Given the description of an element on the screen output the (x, y) to click on. 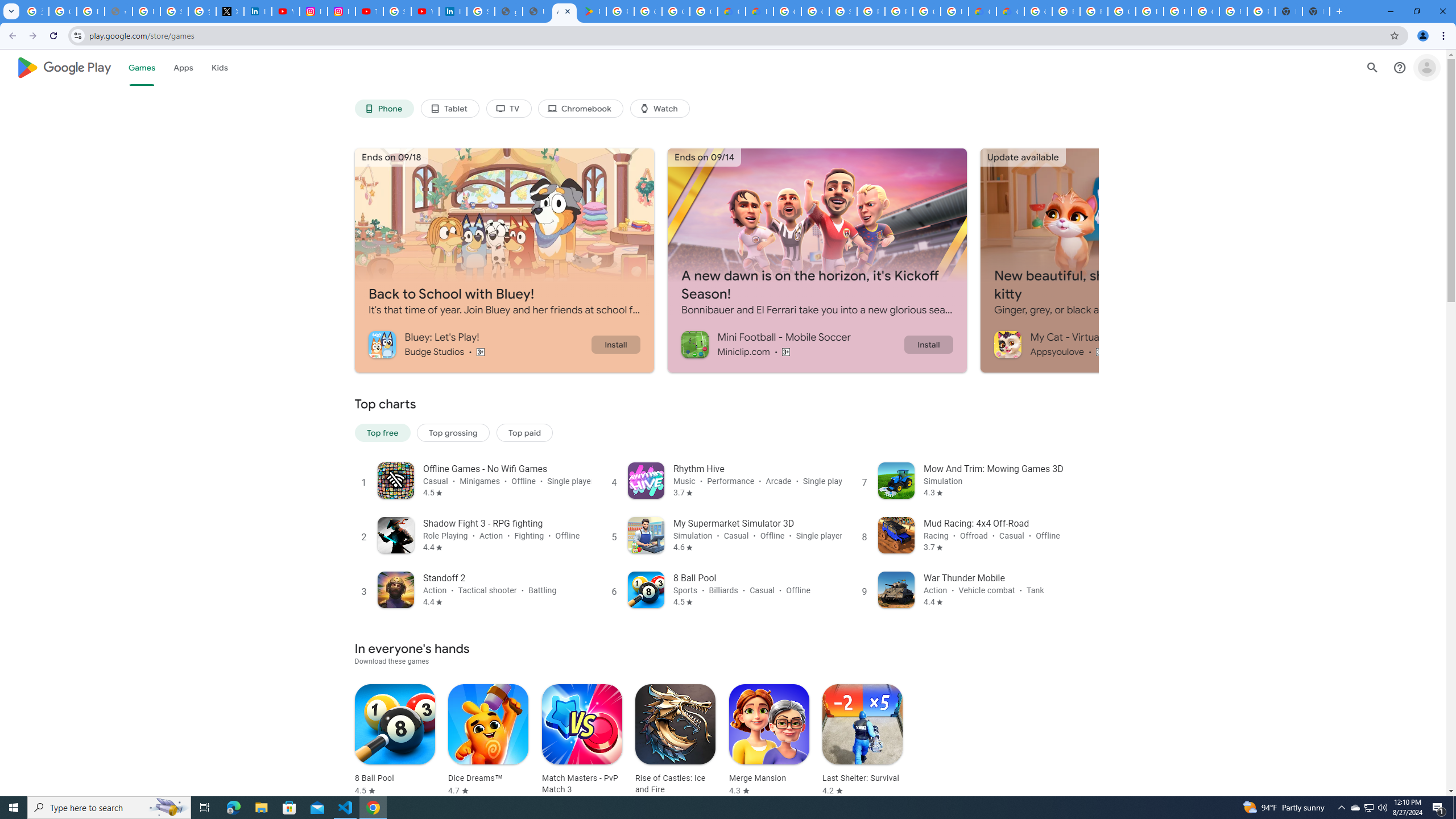
Last Shelter: Survival Rated 4.2 stars out of five stars (862, 739)
LinkedIn Privacy Policy (257, 11)
Content rating Rated for 3+ (1100, 351)
PAW Patrol Rescue World - Apps on Google Play (592, 11)
Privacy Help Center - Policies Help (146, 11)
Sign in - Google Accounts (480, 11)
Bluey: Let's Play! Budge Studios Content rating Rated for 3+ (479, 344)
Install (928, 343)
Customer Care | Google Cloud (731, 11)
Browse Chrome as a guest - Computer - Google Chrome Help (1065, 11)
User Details (536, 11)
